Given the description of an element on the screen output the (x, y) to click on. 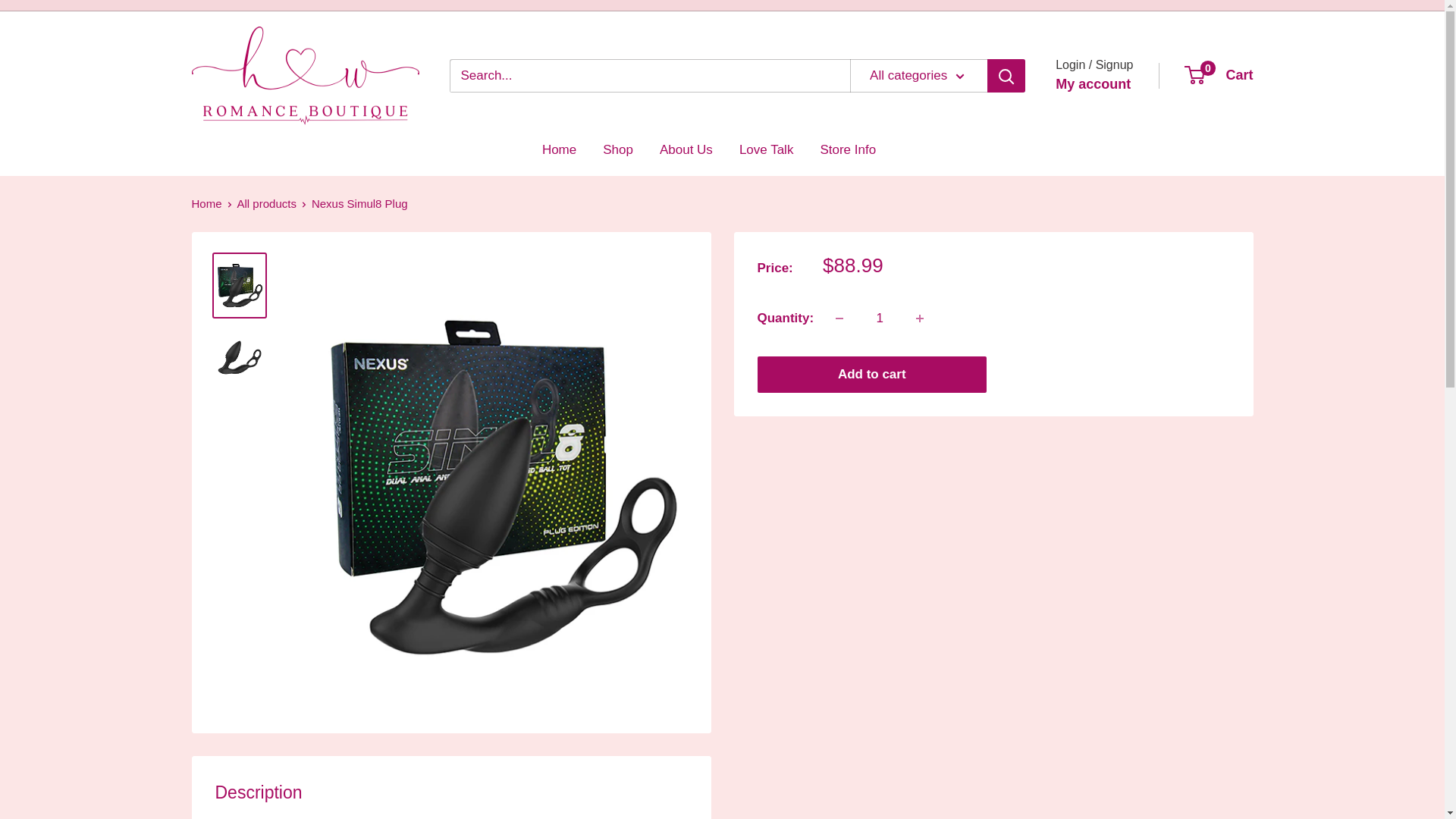
All products (267, 203)
Add to cart (872, 374)
Decrease quantity by 1 (840, 318)
1 (1219, 75)
Increase quantity by 1 (880, 318)
Home (920, 318)
Store Info (558, 150)
Love Talk (847, 150)
My account (766, 150)
About Us (1093, 84)
Home (686, 150)
Shop (205, 203)
